Given the description of an element on the screen output the (x, y) to click on. 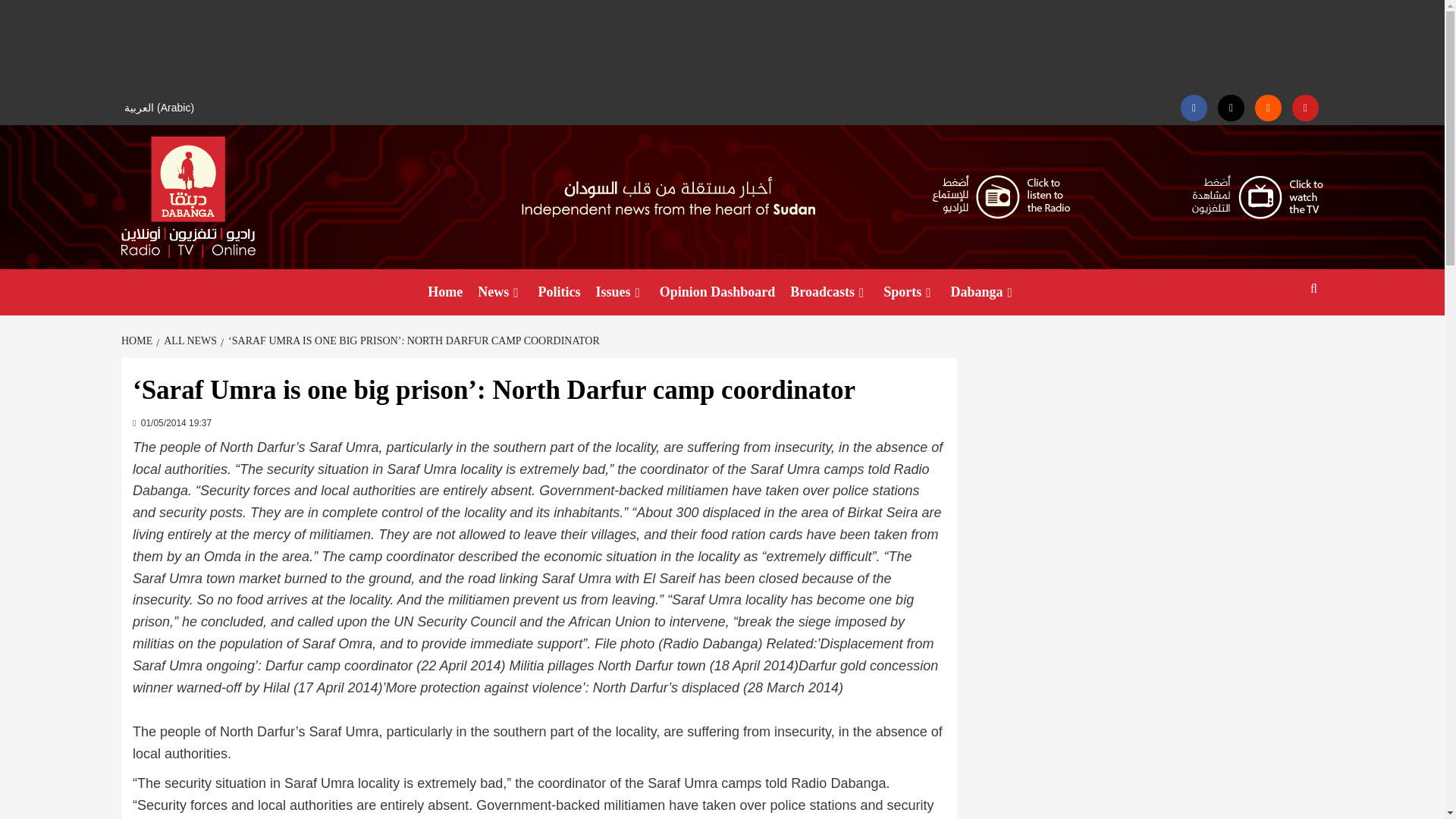
Issues (620, 292)
Opinion Dashboard (717, 292)
Soundcloud (1268, 108)
Arabic (161, 107)
Twitter (1230, 108)
Youtube (1305, 108)
Politics (559, 292)
News (499, 292)
Home (445, 292)
Sports (909, 292)
